Given the description of an element on the screen output the (x, y) to click on. 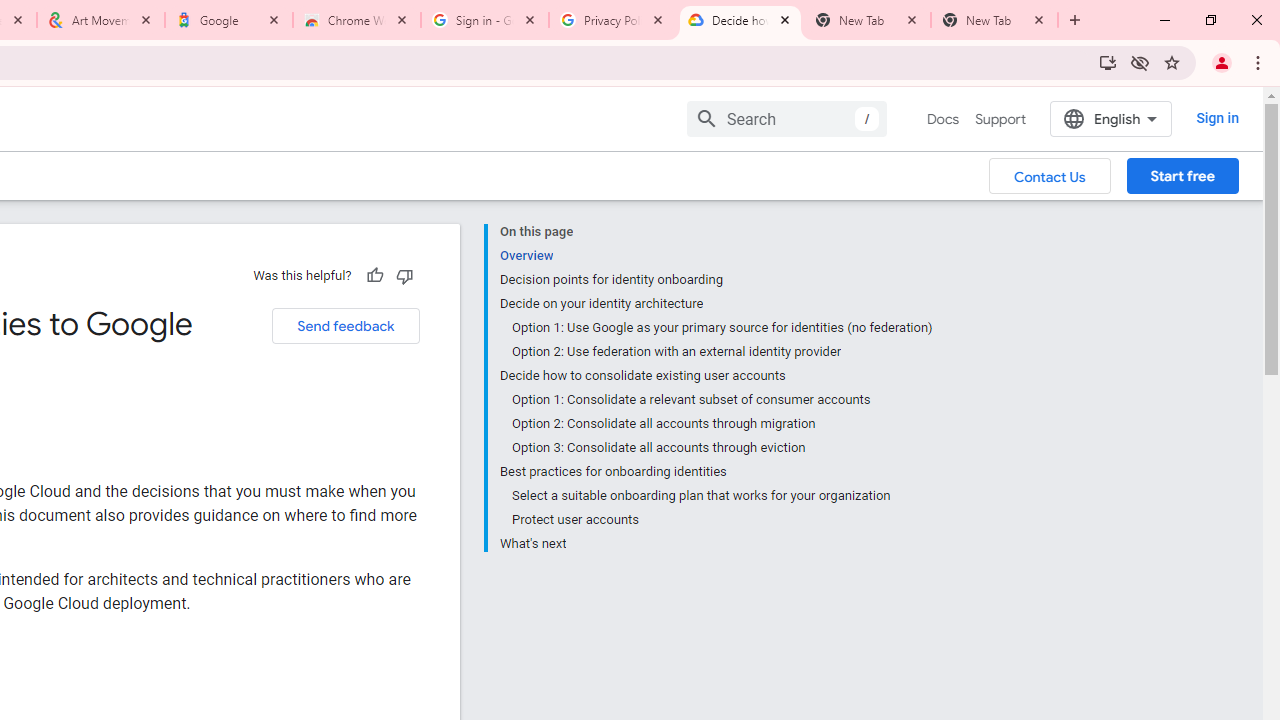
Decide how to consolidate existing user accounts (716, 376)
Google (229, 20)
Send feedback (345, 326)
What's next (716, 542)
Support (1000, 119)
English (1110, 118)
Docs, selected (942, 119)
Start free (1182, 175)
Best practices for onboarding identities (716, 471)
